Given the description of an element on the screen output the (x, y) to click on. 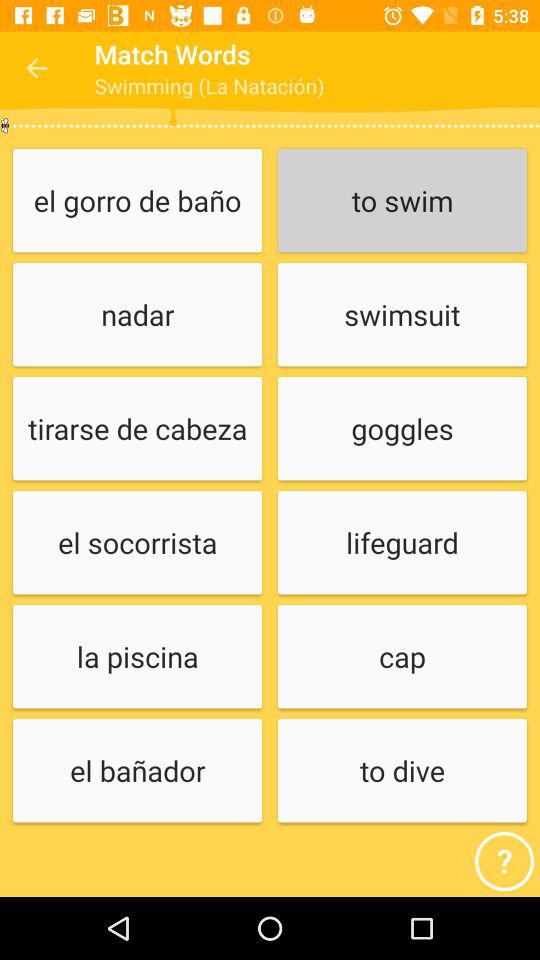
open la piscina (137, 657)
